Given the description of an element on the screen output the (x, y) to click on. 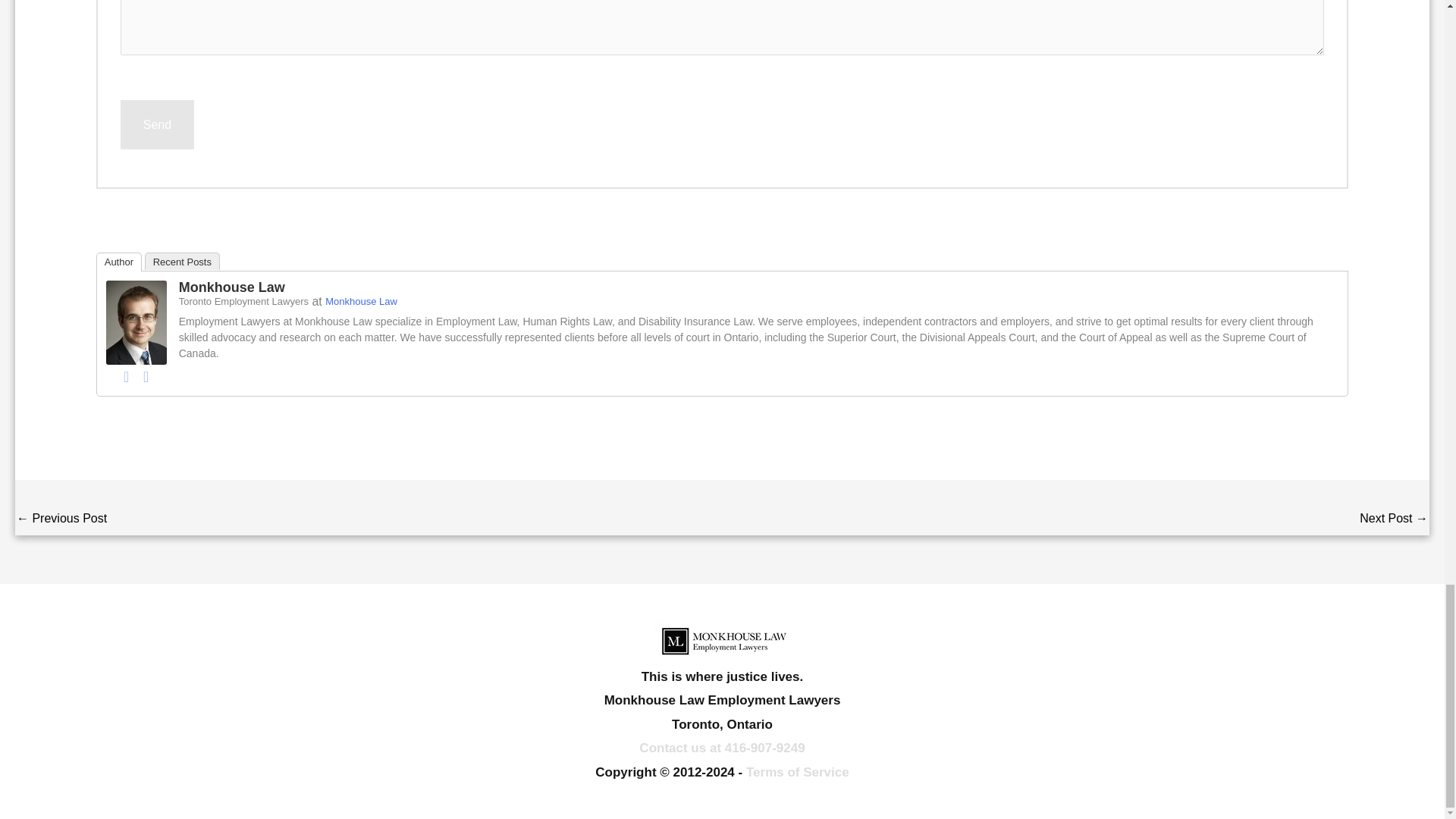
Monkhouse Law (136, 320)
Send (156, 124)
Facebook (126, 375)
Twitter (145, 375)
Champerty in third-party litigation funding (61, 519)
